Given the description of an element on the screen output the (x, y) to click on. 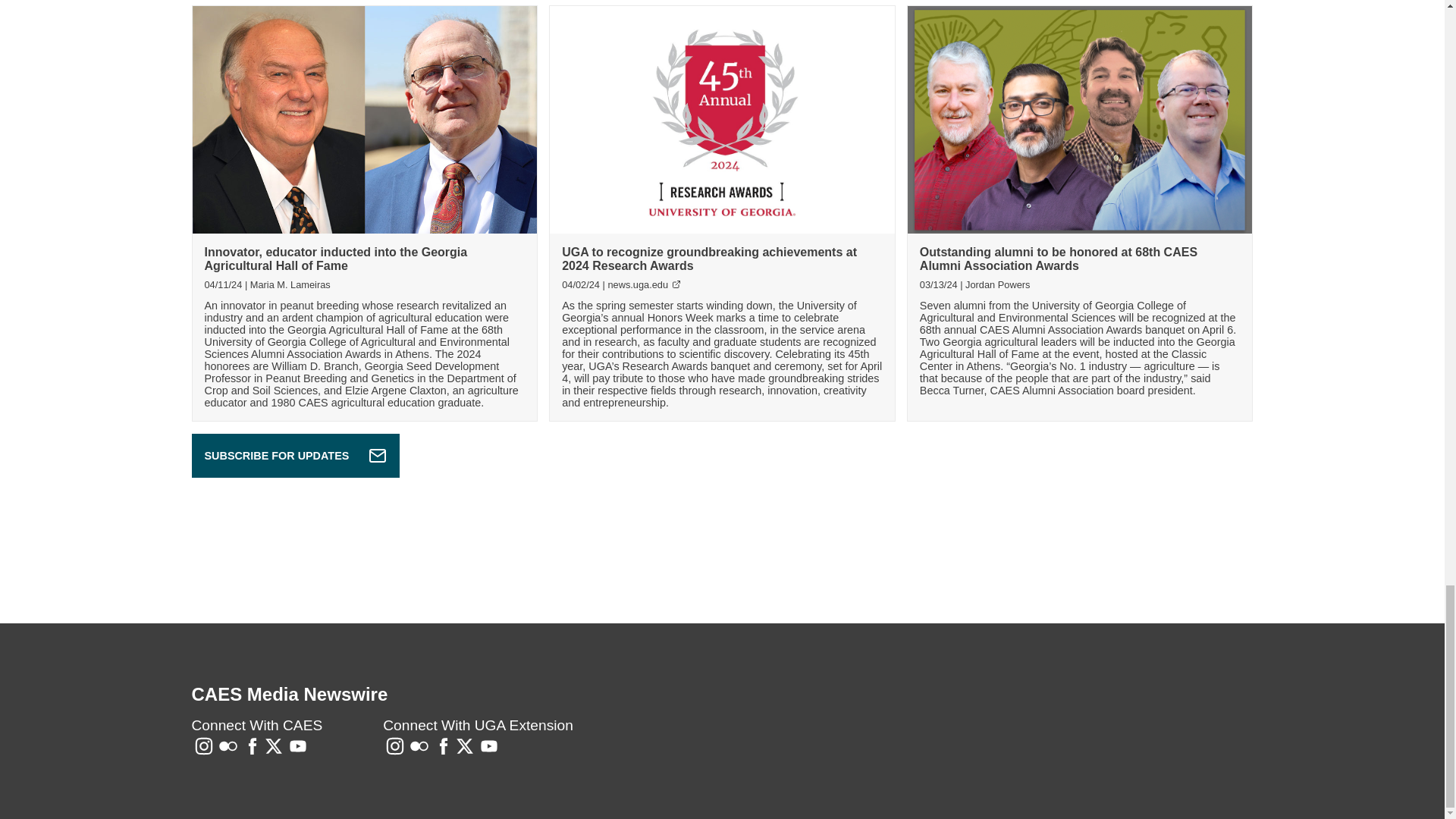
SUBSCRIBE FOR UPDATES (294, 455)
